Given the description of an element on the screen output the (x, y) to click on. 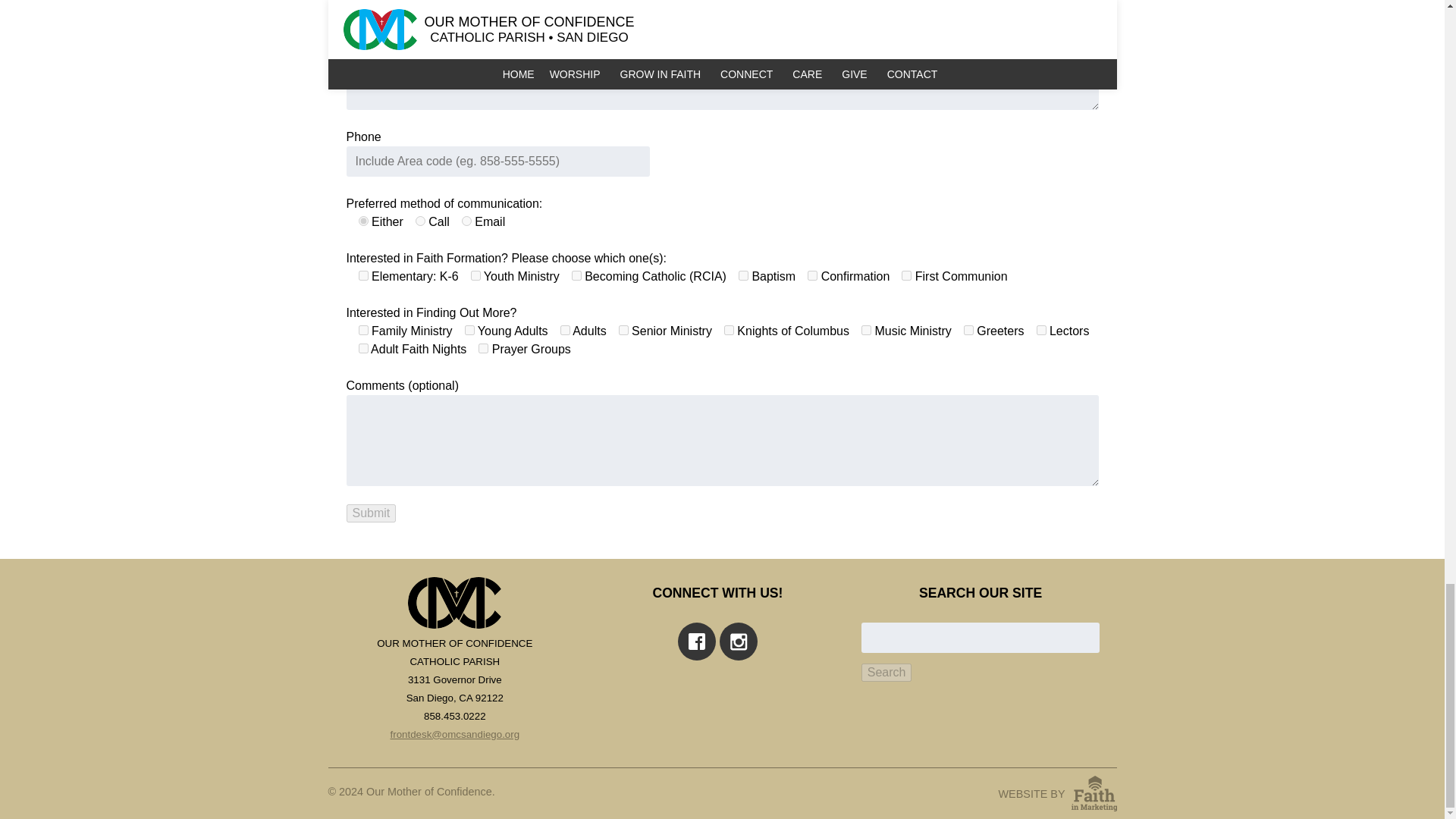
Young Adults (469, 329)
Family Ministry (363, 329)
First Communion (906, 275)
Knights of Columbus (728, 329)
Email (466, 221)
Music Ministry (865, 329)
Baptism (743, 275)
Confirmation (812, 275)
Elementary: K-6 (363, 275)
Adults (565, 329)
Greeters (968, 329)
Senior Ministry (623, 329)
Either (363, 221)
Youth Ministry (475, 275)
Call (419, 221)
